Given the description of an element on the screen output the (x, y) to click on. 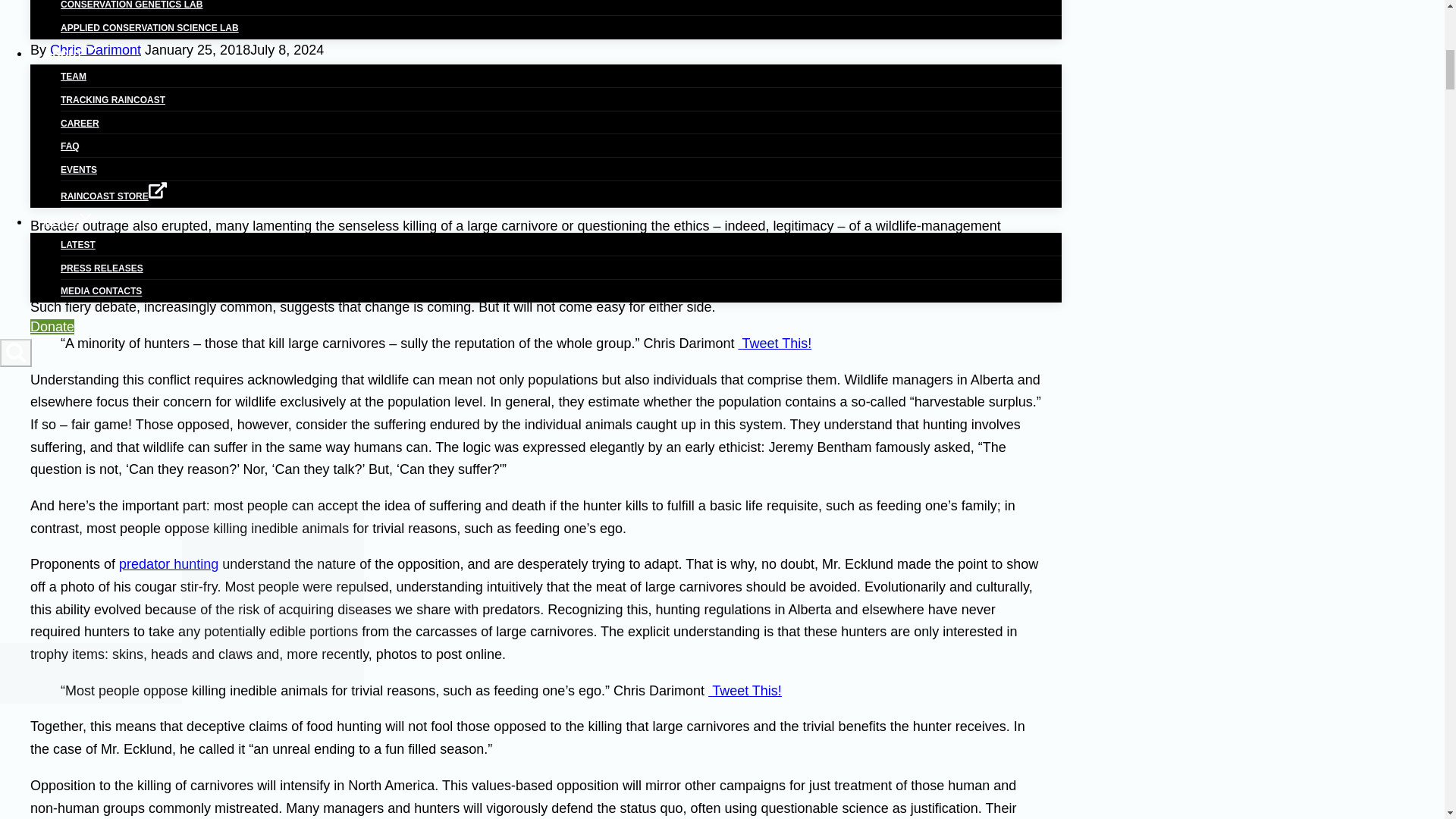
 Tweet This! (774, 343)
PRESS RELEASES (101, 268)
NEWSEXPAND (70, 221)
CAREER (80, 123)
Search (15, 351)
Twitter (515, 189)
EVENTS (79, 169)
Donate (52, 326)
TRACKING RAINCOAST (113, 99)
ABOUTEXPAND (72, 52)
